Given the description of an element on the screen output the (x, y) to click on. 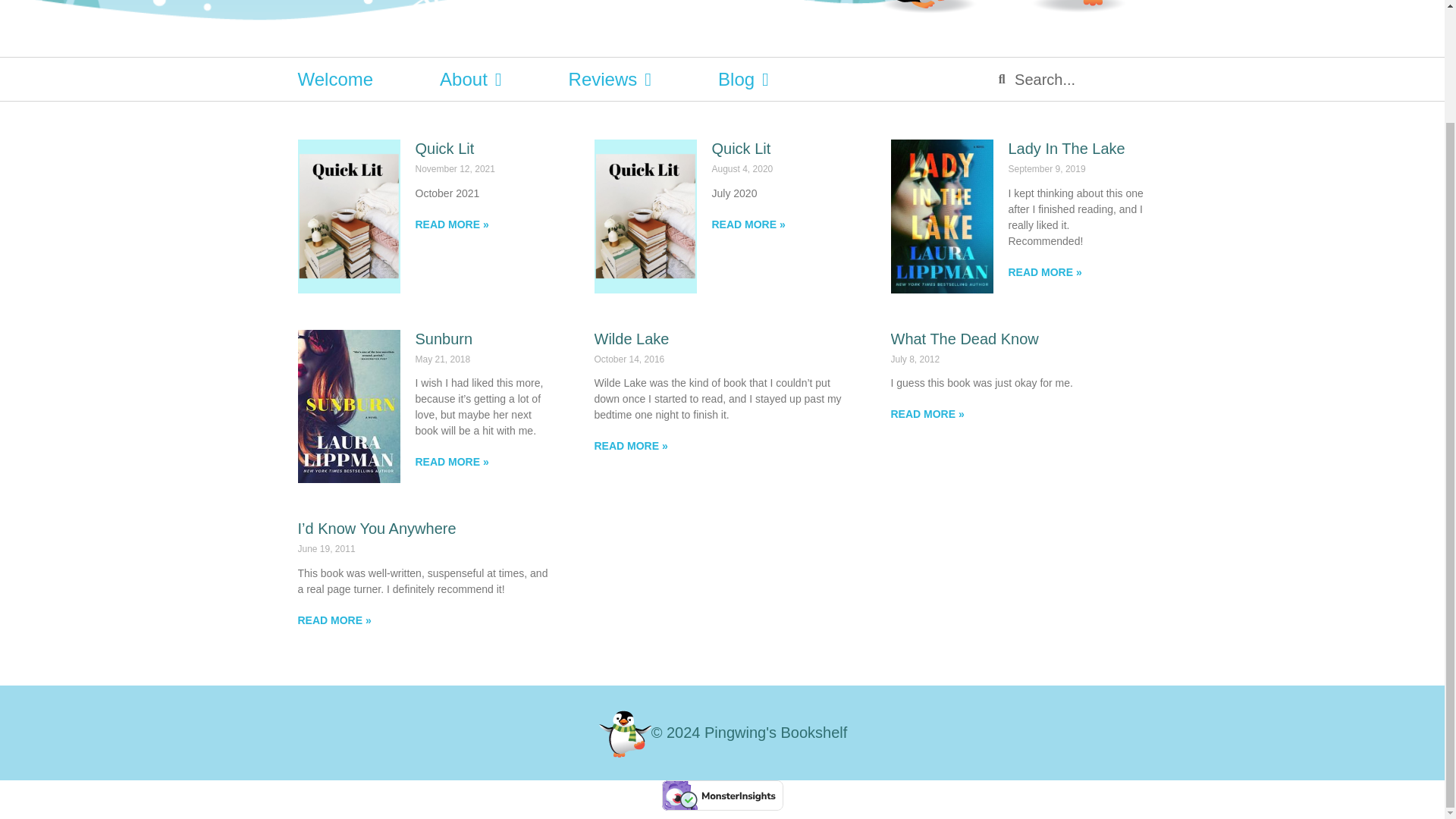
About (469, 79)
Welcome (334, 79)
Reviews (609, 79)
Verified by MonsterInsights (722, 795)
Blog (742, 79)
